Given the description of an element on the screen output the (x, y) to click on. 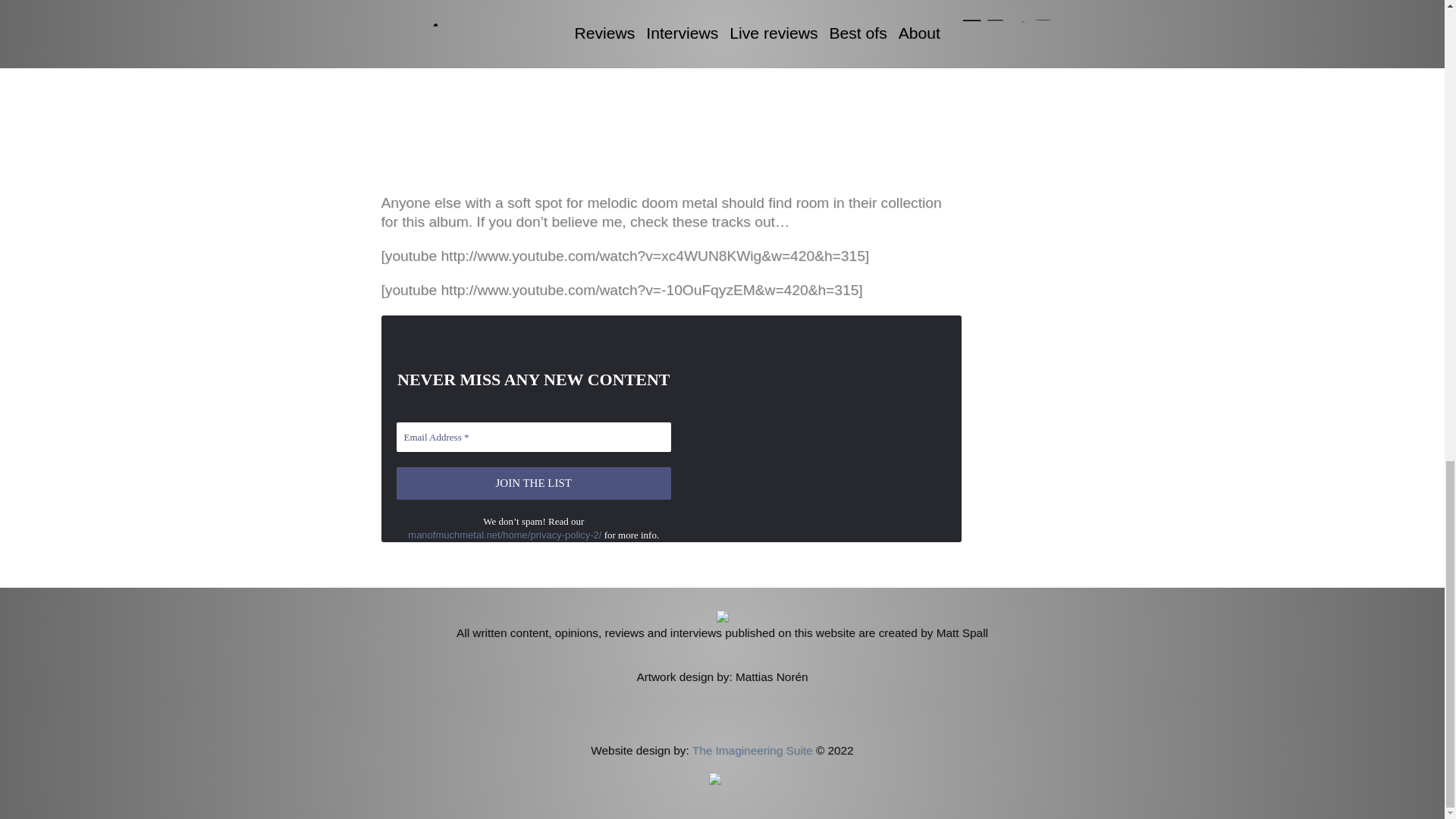
JOIN THE LIST (533, 482)
JOIN THE LIST (533, 482)
The Imagineering Suite (752, 749)
Email Address (533, 436)
